Given the description of an element on the screen output the (x, y) to click on. 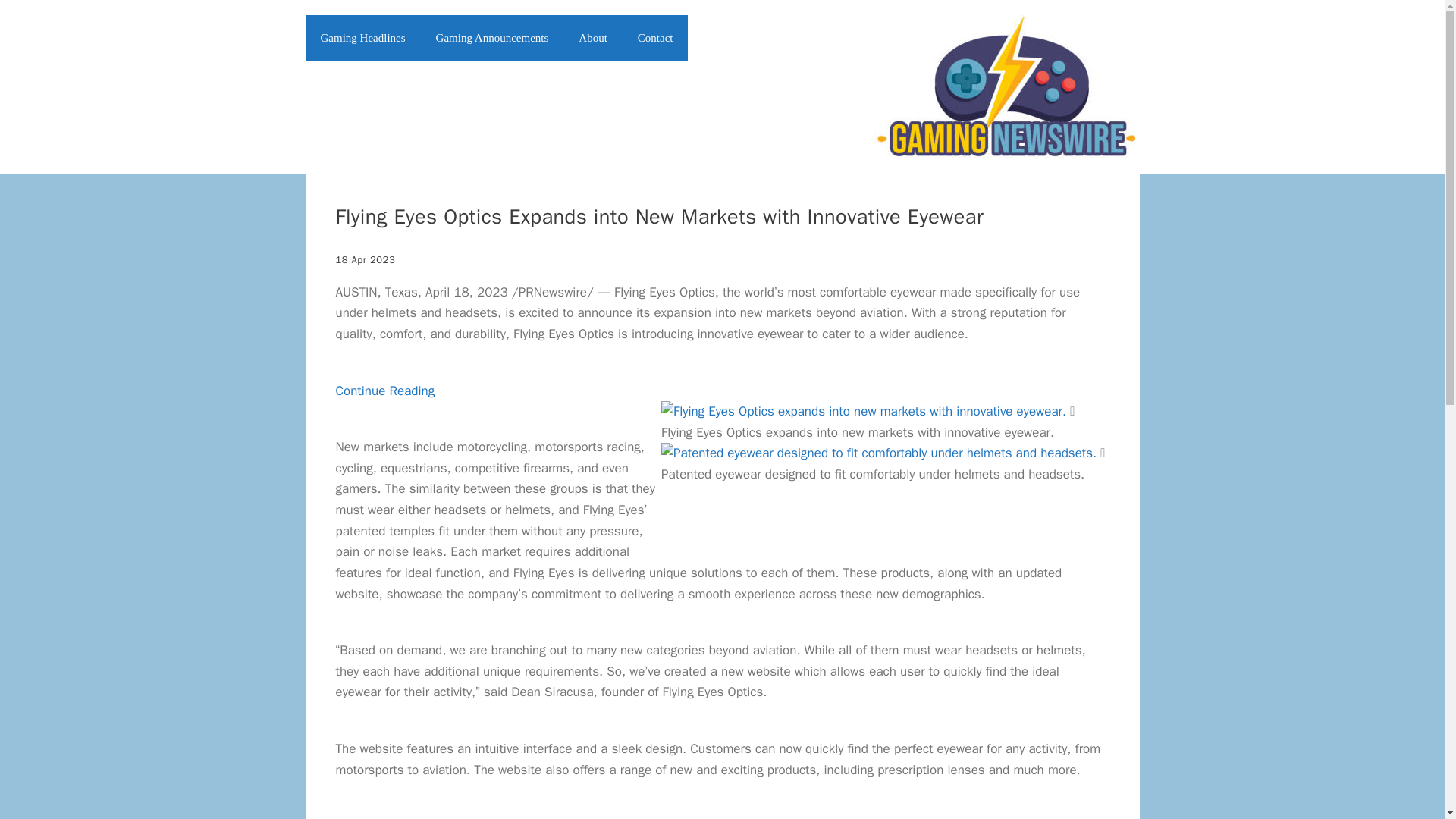
Continue Reading (383, 390)
Contact (655, 37)
Gaming Headlines (362, 37)
Continue Reading (383, 390)
Gaming Announcements (492, 37)
About (593, 37)
